Given the description of an element on the screen output the (x, y) to click on. 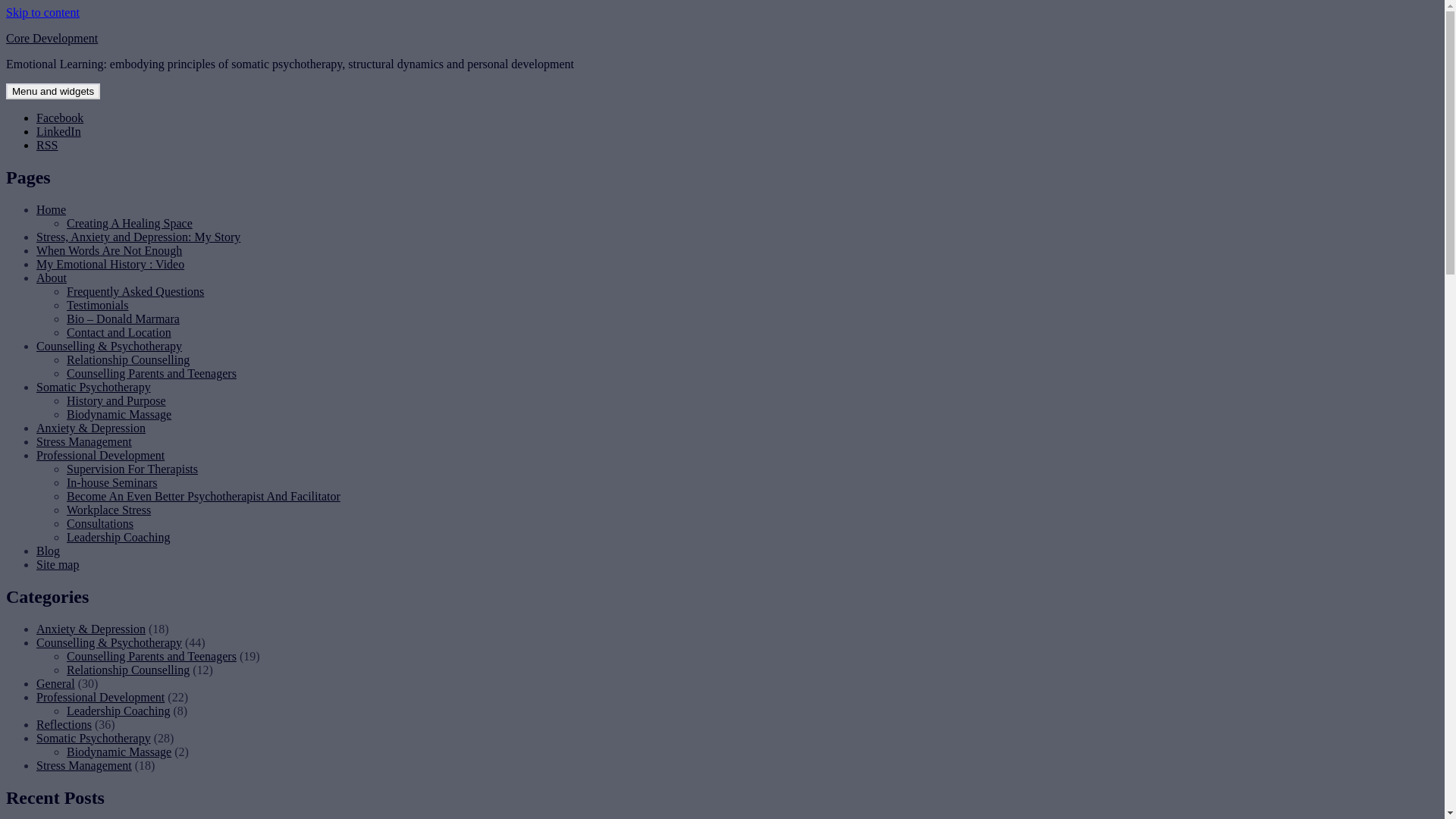
Become An Even Better Psychotherapist And Facilitator Element type: text (203, 495)
Creating A Healing Space Element type: text (129, 222)
Relationship Counselling Element type: text (127, 359)
Professional Development Element type: text (100, 696)
Reflections Element type: text (63, 724)
History and Purpose Element type: text (116, 400)
Anxiety & Depression Element type: text (90, 427)
Somatic Psychotherapy Element type: text (93, 737)
Stress, Anxiety and Depression: My Story Element type: text (138, 236)
Relationship Counselling Element type: text (127, 669)
LinkedIn Element type: text (58, 131)
Leadership Coaching Element type: text (117, 710)
Counselling Parents and Teenagers Element type: text (151, 655)
RSS Element type: text (46, 144)
When Words Are Not Enough Element type: text (109, 250)
Counselling & Psychotherapy Element type: text (109, 642)
Leadership Coaching Element type: text (117, 536)
Counselling Parents and Teenagers Element type: text (151, 373)
Anxiety & Depression Element type: text (90, 628)
Site map Element type: text (57, 564)
Facebook Element type: text (59, 117)
Blog Element type: text (47, 550)
General Element type: text (55, 683)
About Element type: text (51, 277)
Home Element type: text (50, 209)
In-house Seminars Element type: text (111, 482)
Core Development Element type: text (51, 37)
Biodynamic Massage Element type: text (118, 413)
Skip to content Element type: text (42, 12)
Workplace Stress Element type: text (108, 509)
Consultations Element type: text (99, 523)
Supervision For Therapists Element type: text (131, 468)
Frequently Asked Questions Element type: text (134, 291)
Testimonials Element type: text (97, 304)
Menu and widgets Element type: text (53, 91)
Stress Management Element type: text (83, 441)
My Emotional History : Video Element type: text (110, 263)
Stress Management Element type: text (83, 765)
Biodynamic Massage Element type: text (118, 751)
Counselling & Psychotherapy Element type: text (109, 345)
Professional Development Element type: text (100, 454)
Contact and Location Element type: text (118, 332)
Somatic Psychotherapy Element type: text (93, 386)
